Given the description of an element on the screen output the (x, y) to click on. 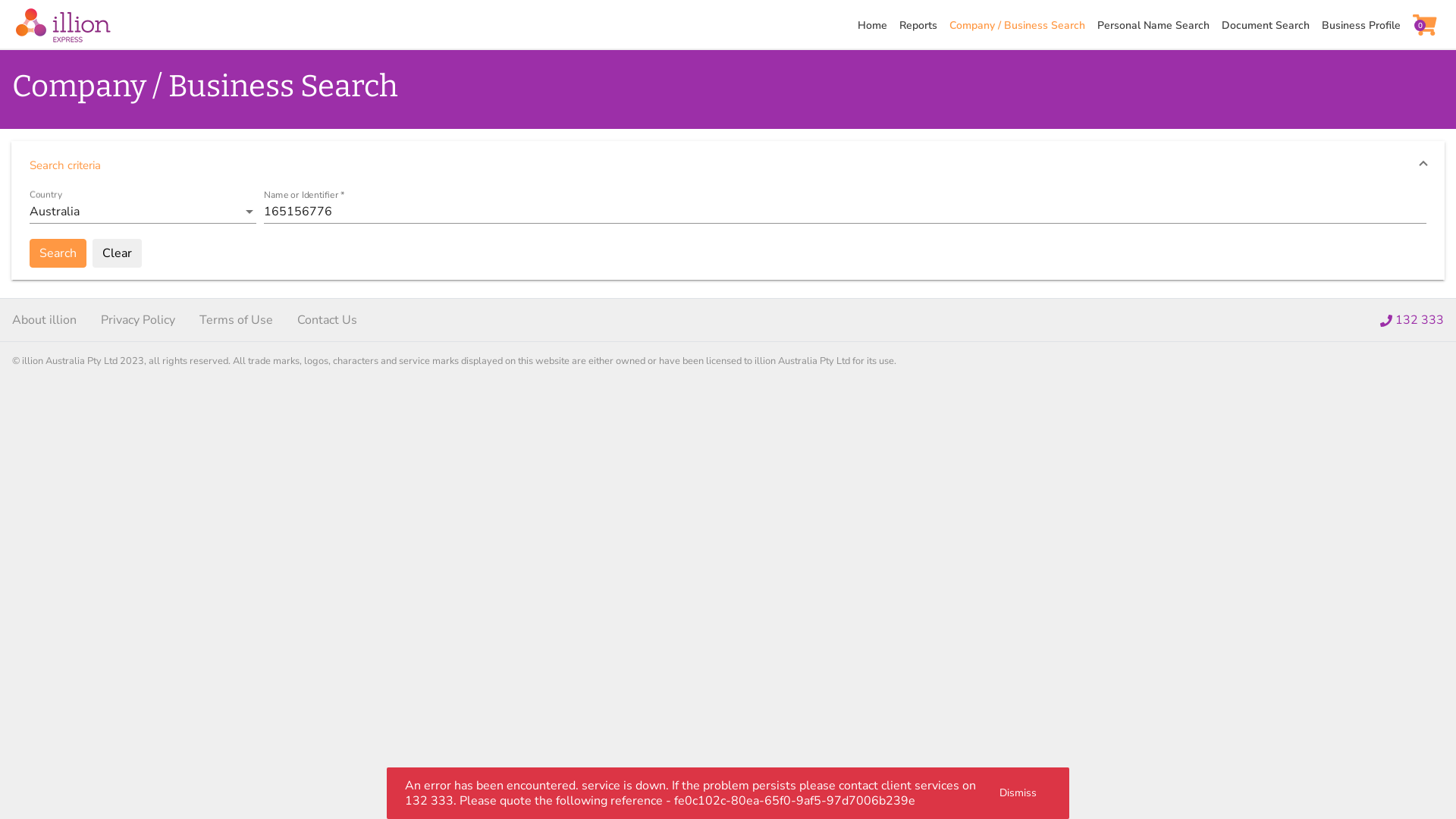
Reports Element type: text (924, 25)
0 Element type: text (1427, 25)
Privacy Policy Element type: text (137, 319)
Dismiss Element type: text (1017, 792)
About illion Element type: text (44, 319)
Clear Element type: text (116, 252)
Personal Name Search Element type: text (1158, 25)
Contact Us Element type: text (327, 319)
Document Search Element type: text (1270, 25)
Business Profile Element type: text (1366, 25)
Company / Business Search Element type: text (1023, 25)
Home Element type: text (877, 25)
Search Element type: text (57, 252)
Terms of Use Element type: text (236, 319)
